Given the description of an element on the screen output the (x, y) to click on. 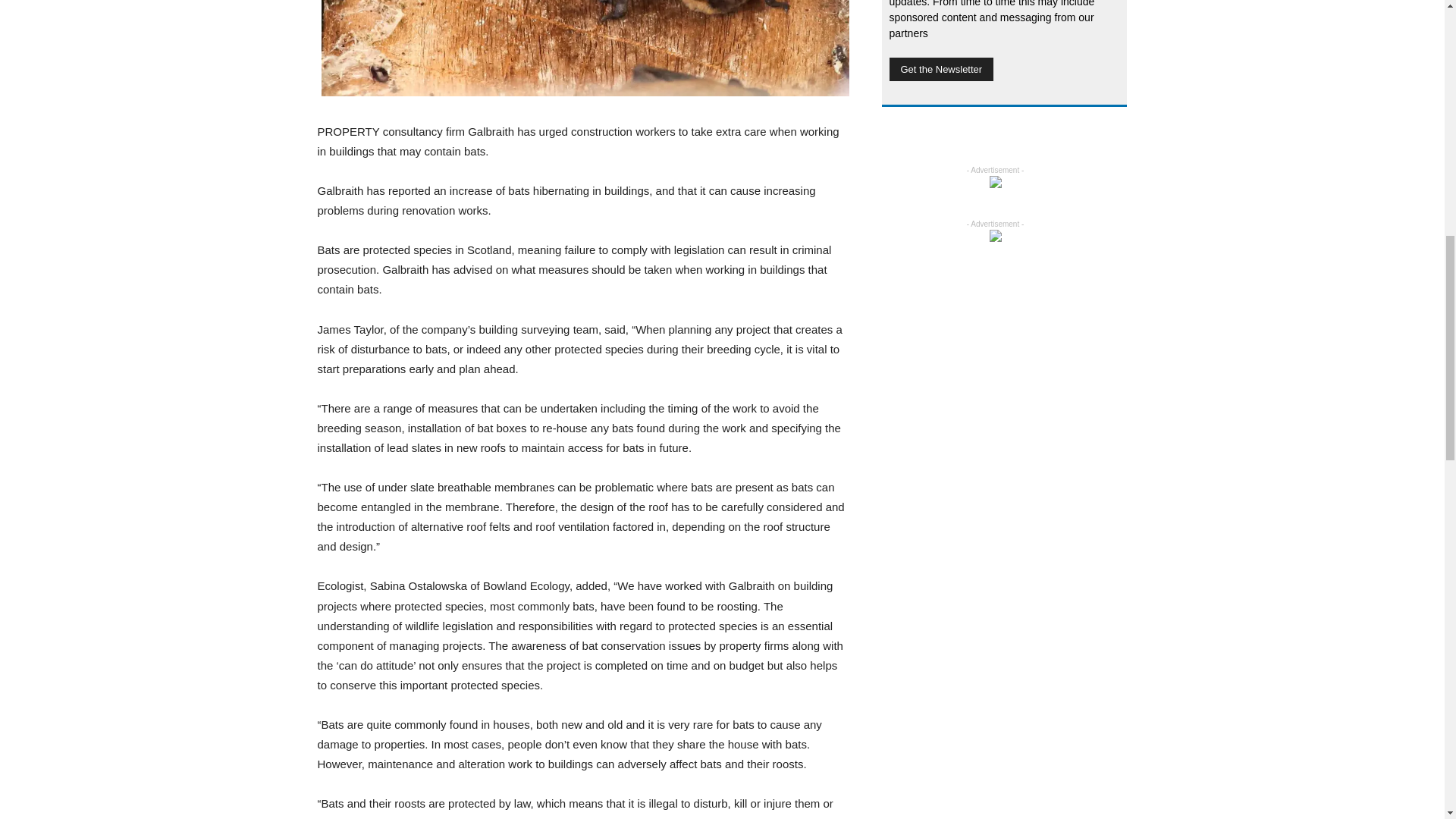
Get the Newsletter (940, 69)
